Given the description of an element on the screen output the (x, y) to click on. 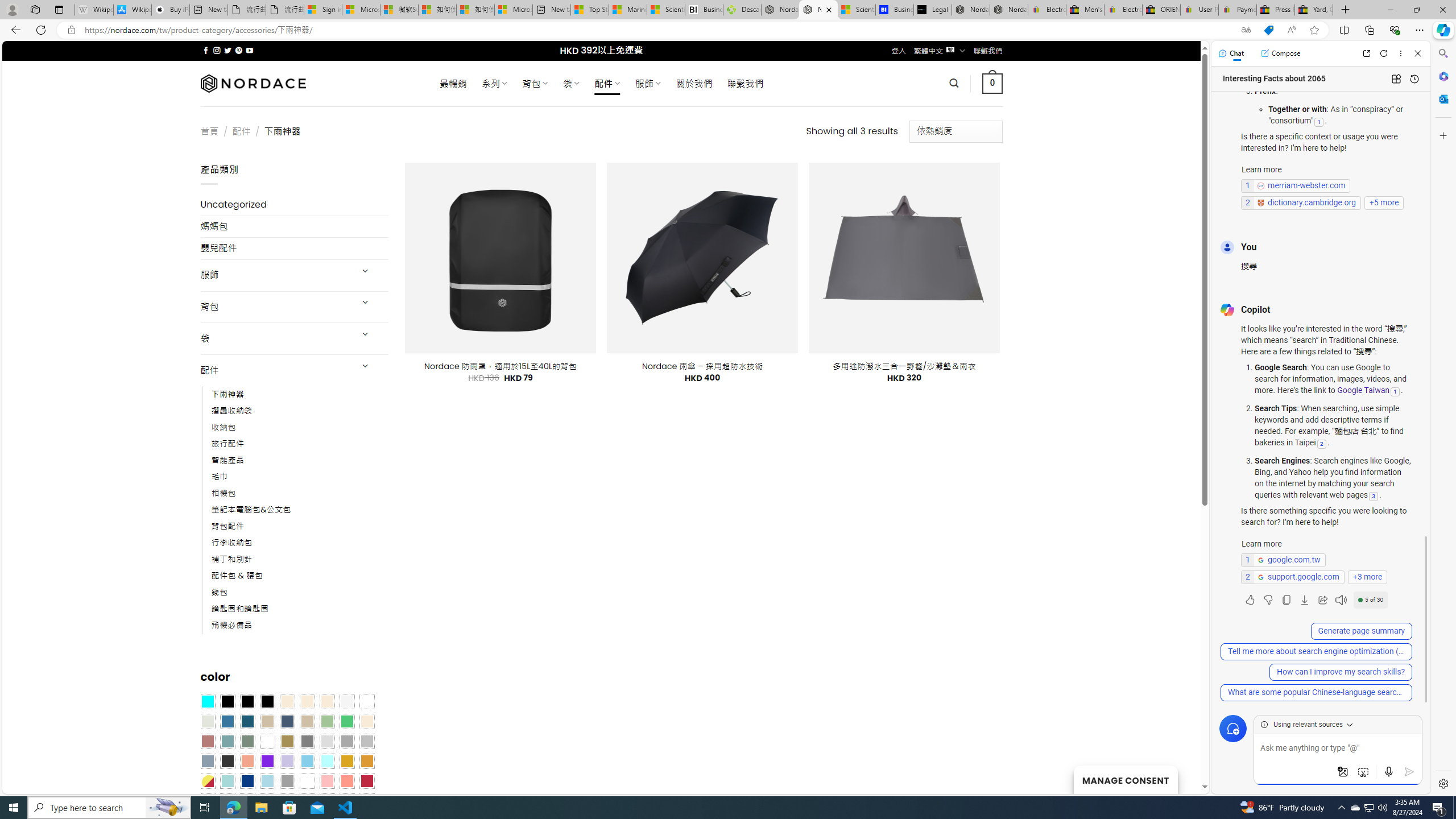
Nordace - Summer Adventures 2024 (780, 9)
